Given the description of an element on the screen output the (x, y) to click on. 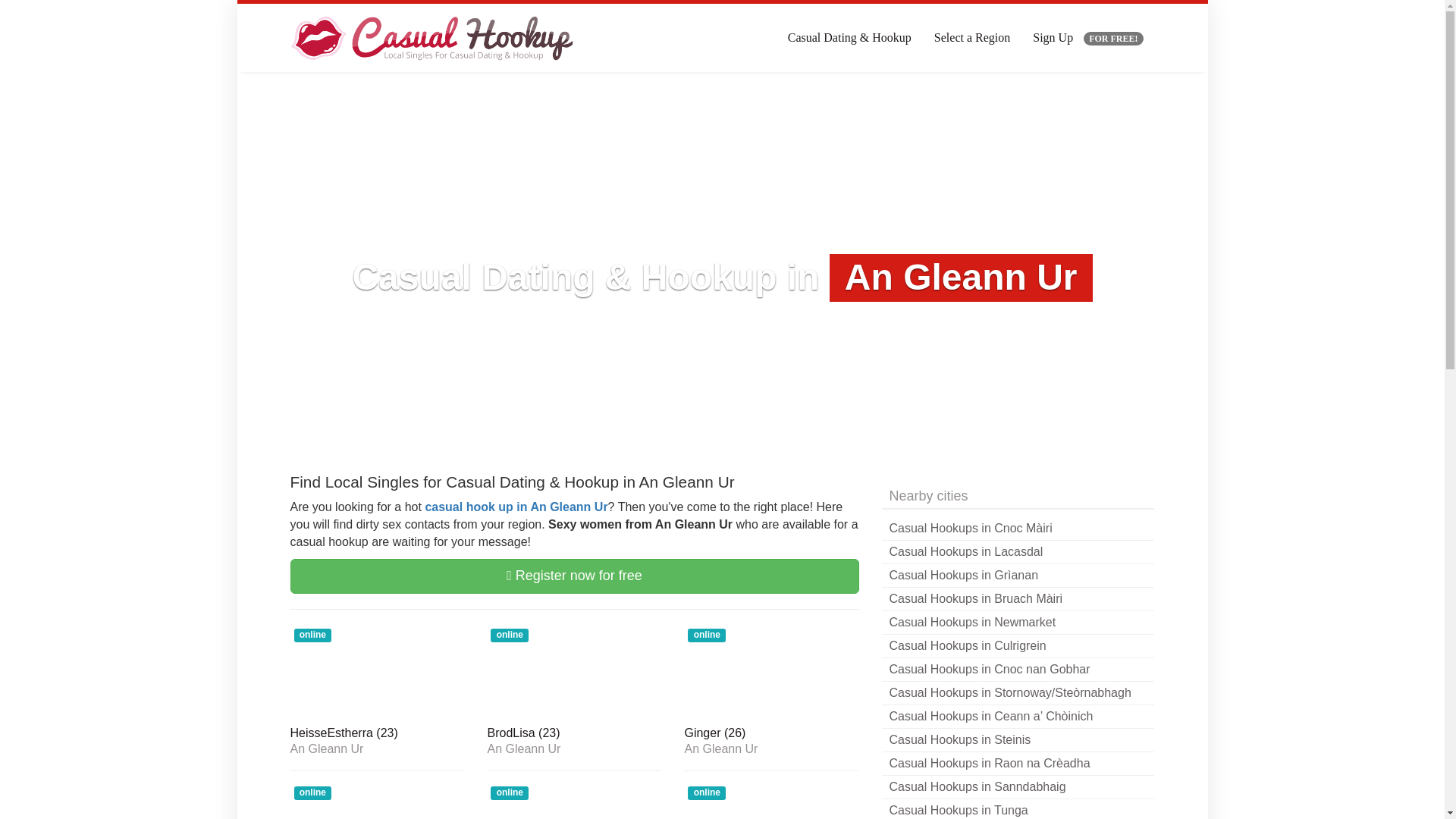
online (573, 800)
Date Ginger now! (771, 734)
Date HeisseEstherra now! (376, 734)
casual hook up in An Gleann Ur (516, 506)
Select a Region (972, 37)
online (376, 671)
An Gleann Ur (771, 748)
Date HeisseEstherra now! (376, 671)
Register now for free (574, 575)
Date LydiaHoney now! (771, 800)
online (573, 671)
An Gleann Ur (573, 748)
online (771, 671)
Date NadineLEXI now! (376, 800)
Date BrodLisa now! (573, 734)
